Given the description of an element on the screen output the (x, y) to click on. 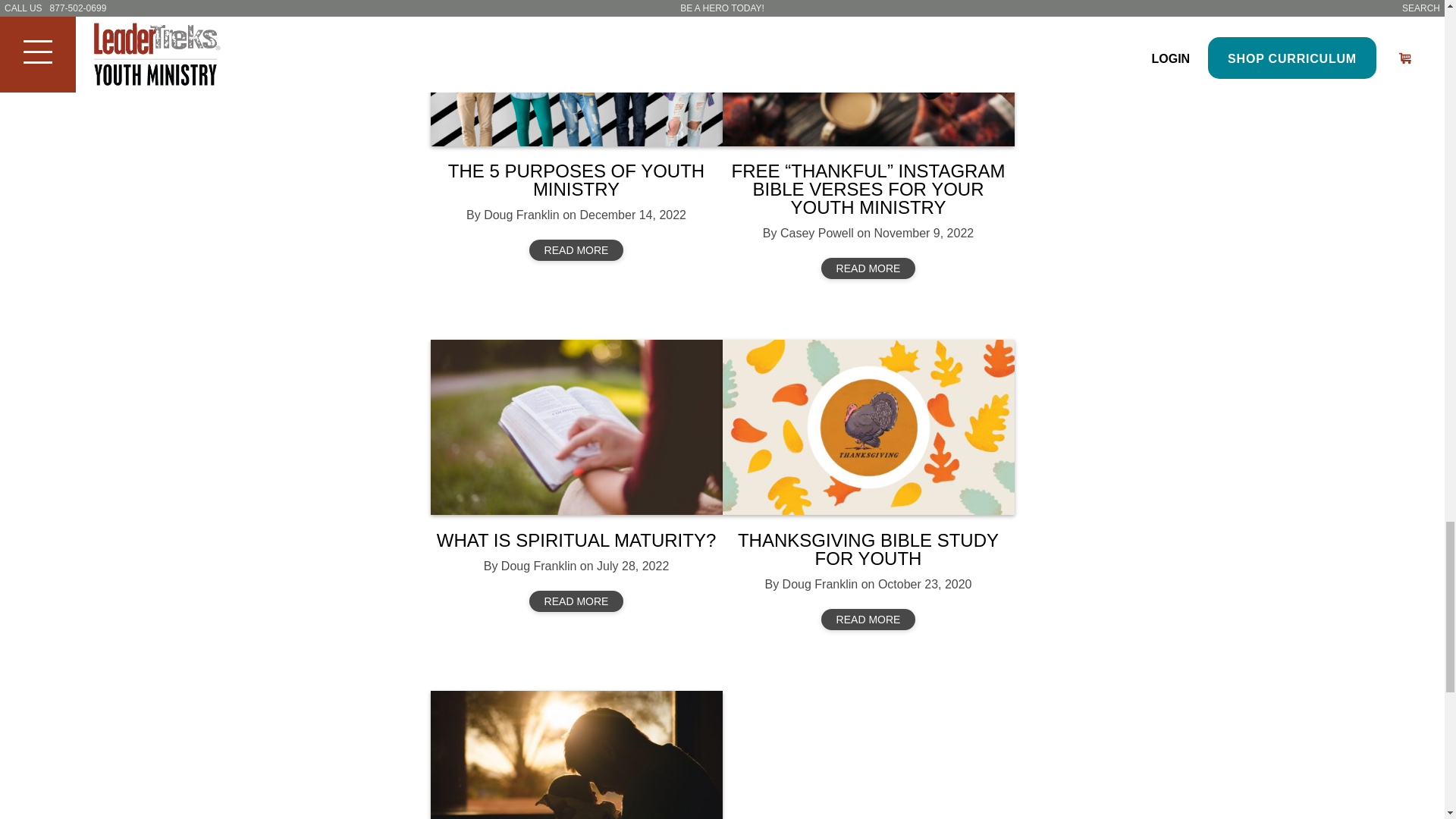
WHAT IS SPIRITUAL MATURITY? (576, 539)
What is Spiritual Maturity? (576, 427)
READ MORE (576, 250)
Things I learned from my Dad part 3 (576, 755)
The 5 Purposes of Youth Ministry (576, 73)
Thanksgiving Bible Study for Youth (867, 427)
READ MORE (868, 268)
THE 5 PURPOSES OF YOUTH MINISTRY (576, 179)
